Given the description of an element on the screen output the (x, y) to click on. 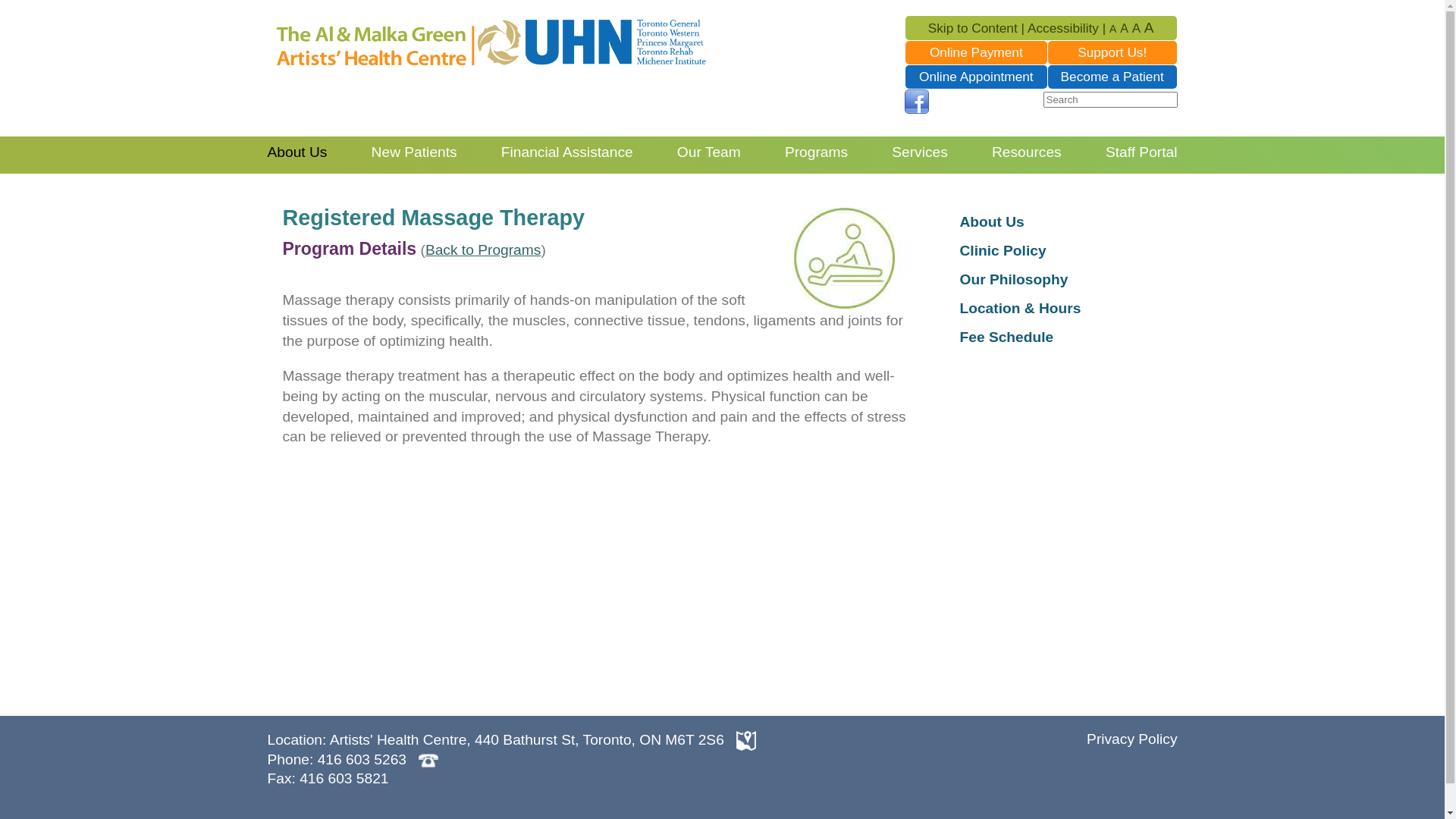
Fee Schedule Element type: text (1007, 337)
A Element type: text (1149, 27)
Online Appointment Element type: text (976, 76)
Become a Patient Element type: text (1112, 76)
Skip to Content Element type: text (972, 27)
About Us Element type: text (296, 152)
New Patients Element type: text (414, 152)
Our Team Element type: text (708, 152)
Financial Assistance Element type: text (567, 152)
Online Payment Element type: text (975, 51)
A Element type: text (1124, 27)
Our Philosophy Element type: text (1014, 279)
Programs Element type: text (815, 152)
About Us Element type: text (992, 221)
Privacy Policy Element type: text (1131, 738)
Clinic Policy Element type: text (1003, 250)
A Element type: text (1136, 27)
Artists' Health Centre, 440 Bathurst St, Toronto, ON M6T 2S6 Element type: text (526, 739)
Location & Hours Element type: text (1020, 308)
Support Us! Element type: text (1111, 51)
Back to Programs Element type: text (483, 249)
Resources Element type: text (1026, 152)
Staff Portal Element type: text (1141, 152)
416 603 5263 Element type: text (361, 759)
A Element type: text (1112, 27)
Services Element type: text (919, 152)
